Given the description of an element on the screen output the (x, y) to click on. 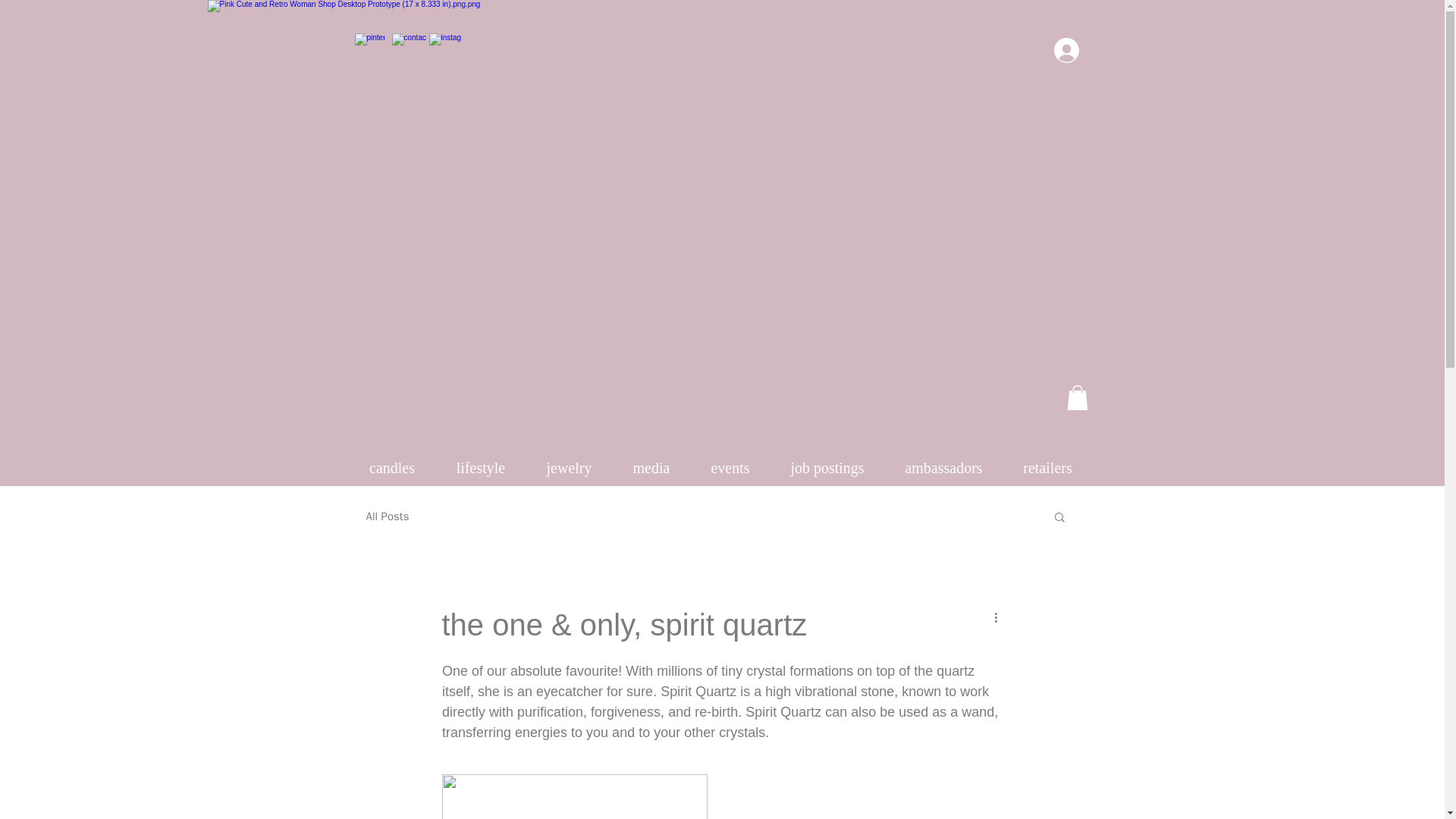
events (730, 467)
retailers (1047, 467)
ambassadors (943, 467)
jewelry (568, 467)
job postings (827, 467)
All Posts (387, 516)
candles (392, 467)
lifestyle (480, 467)
media (651, 467)
